Given the description of an element on the screen output the (x, y) to click on. 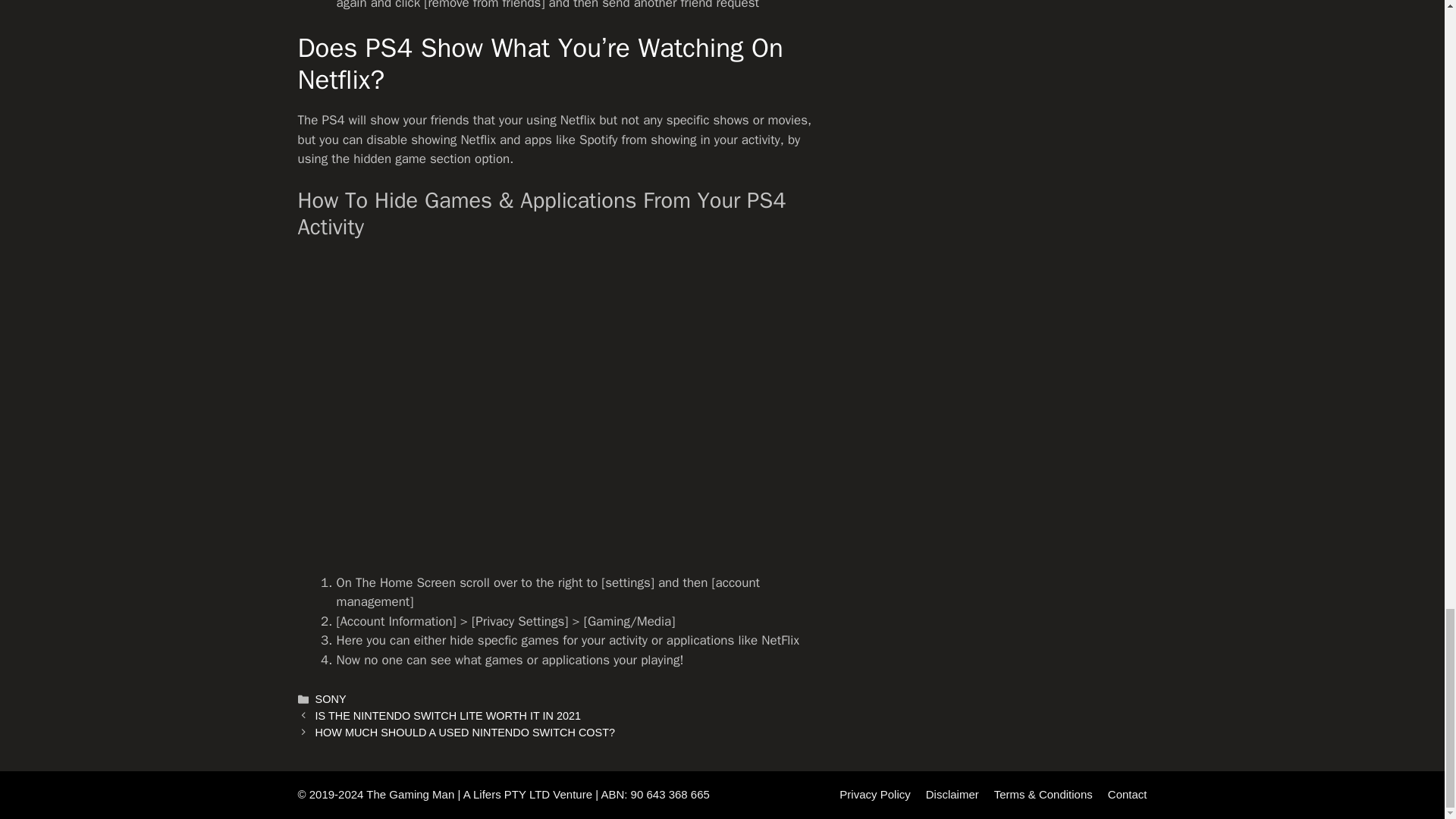
IS THE NINTENDO SWITCH LITE WORTH IT IN 2021 (447, 715)
SONY (330, 698)
HOW MUCH SHOULD A USED NINTENDO SWITCH COST? (464, 732)
